Given the description of an element on the screen output the (x, y) to click on. 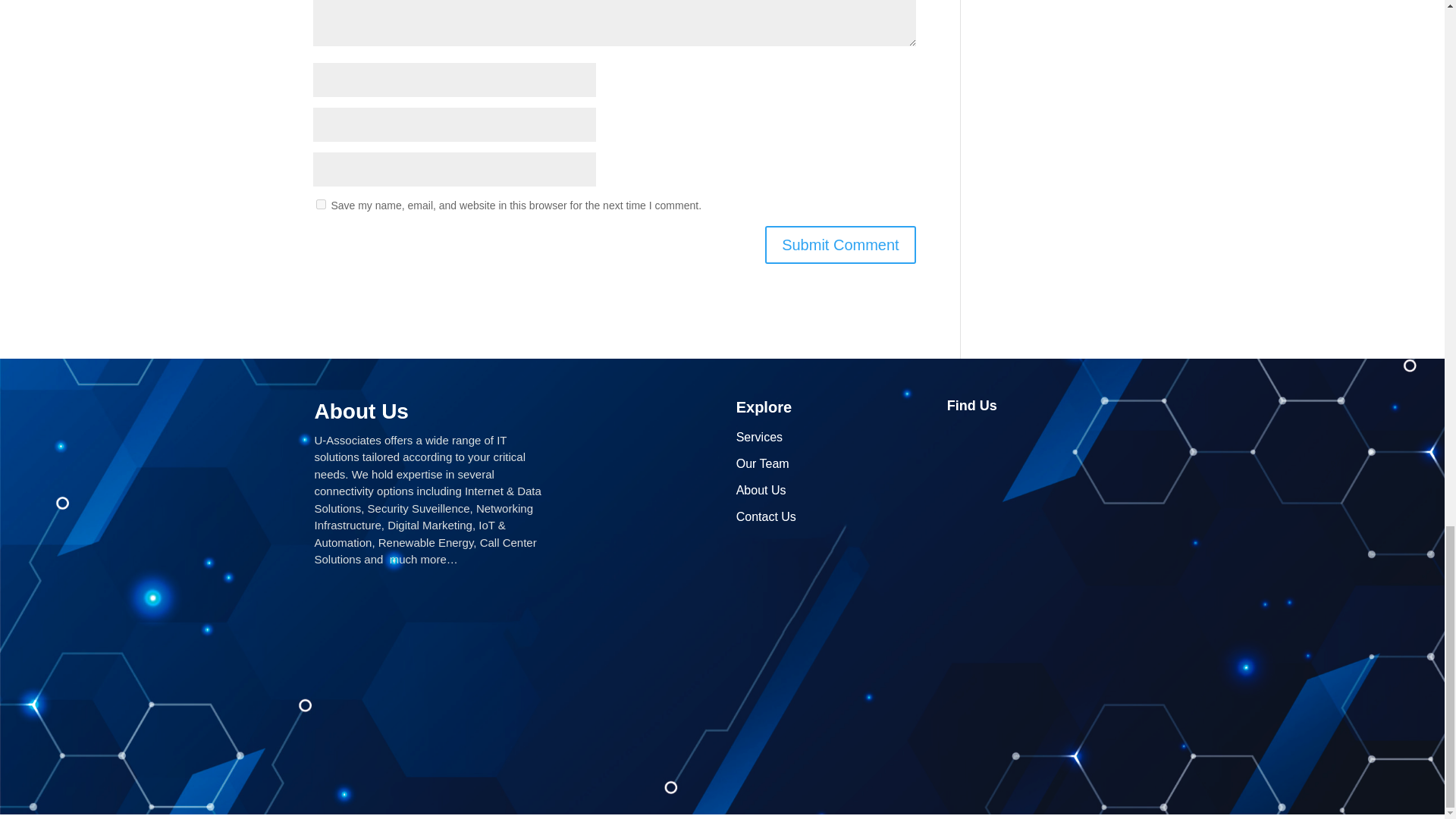
yes (319, 204)
Our Team (762, 463)
Submit Comment (840, 244)
Submit Comment (840, 244)
About Us (761, 490)
Contact Us (766, 516)
Services (759, 436)
